Given the description of an element on the screen output the (x, y) to click on. 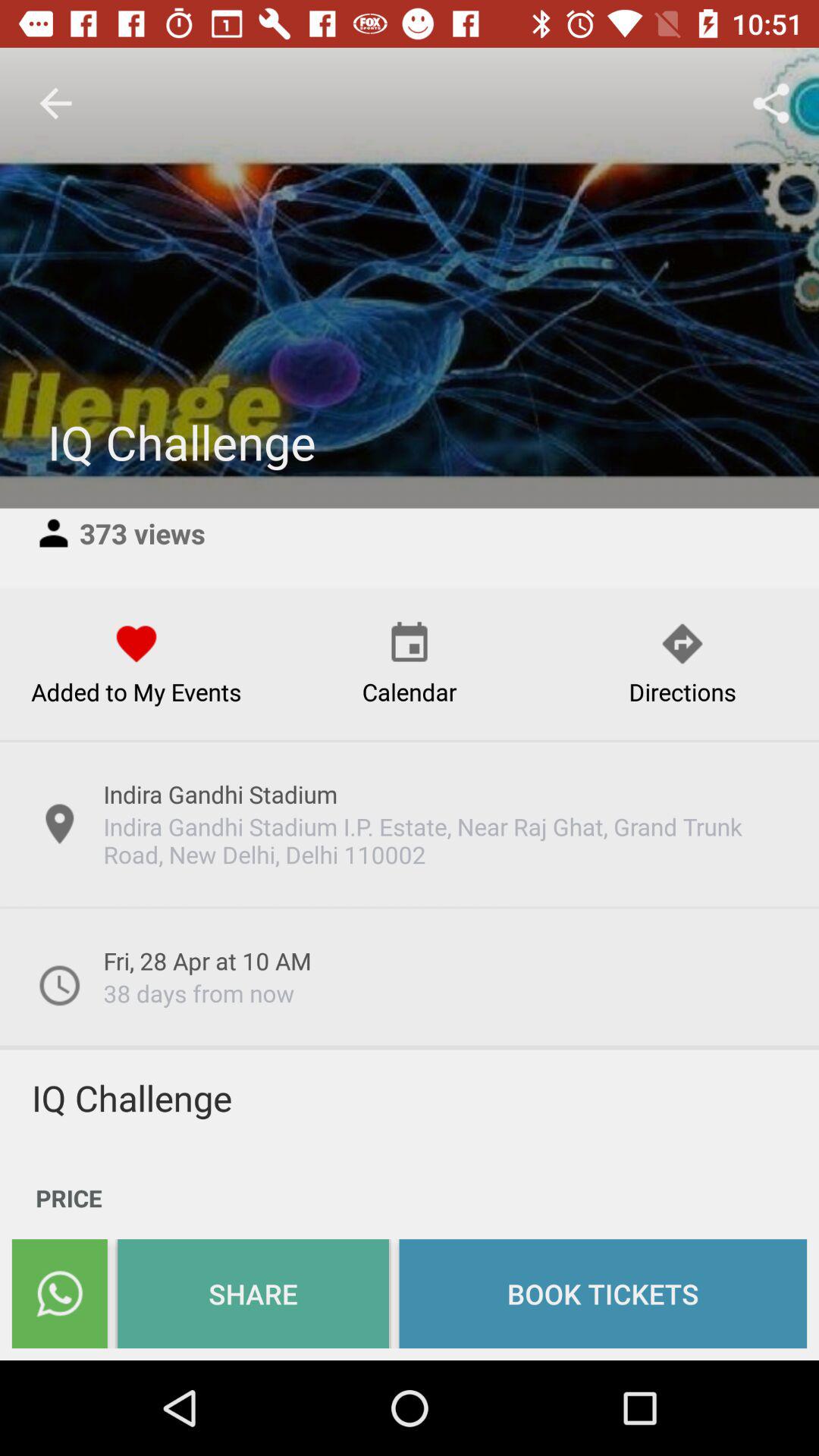
click on the location icon (59, 823)
click on the calendar option (409, 663)
click on the clock icon (59, 984)
select the book tickets text option (602, 1293)
select the option directions on a page (682, 663)
select the share icon on the top right corner of page (771, 103)
